Given the description of an element on the screen output the (x, y) to click on. 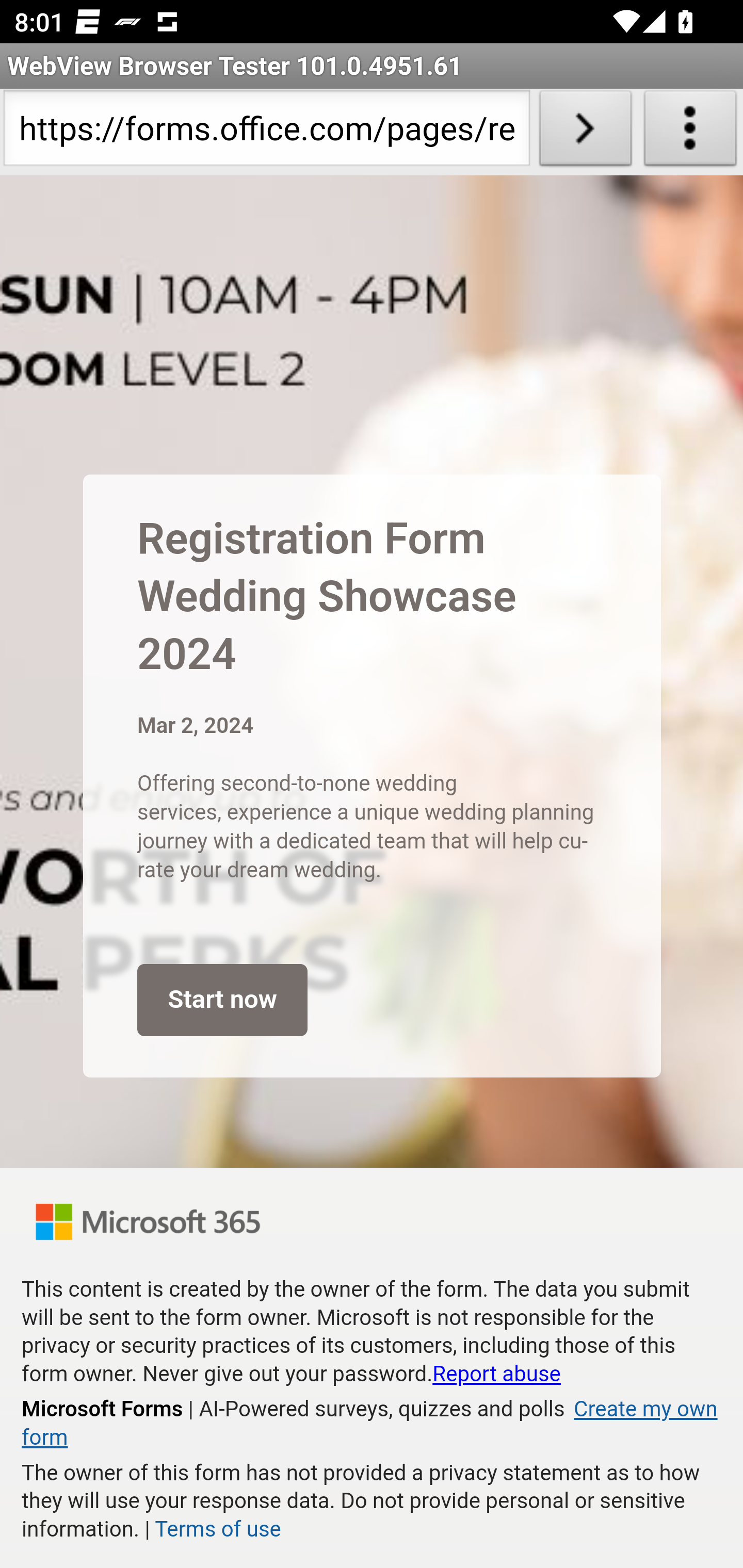
Load URL (585, 132)
About WebView (690, 132)
Microsoft 365 (148, 1221)
Report abuse (496, 1374)
Microsoft Forms (102, 1408)
Create my own form (369, 1423)
Terms of use (217, 1529)
